Given the description of an element on the screen output the (x, y) to click on. 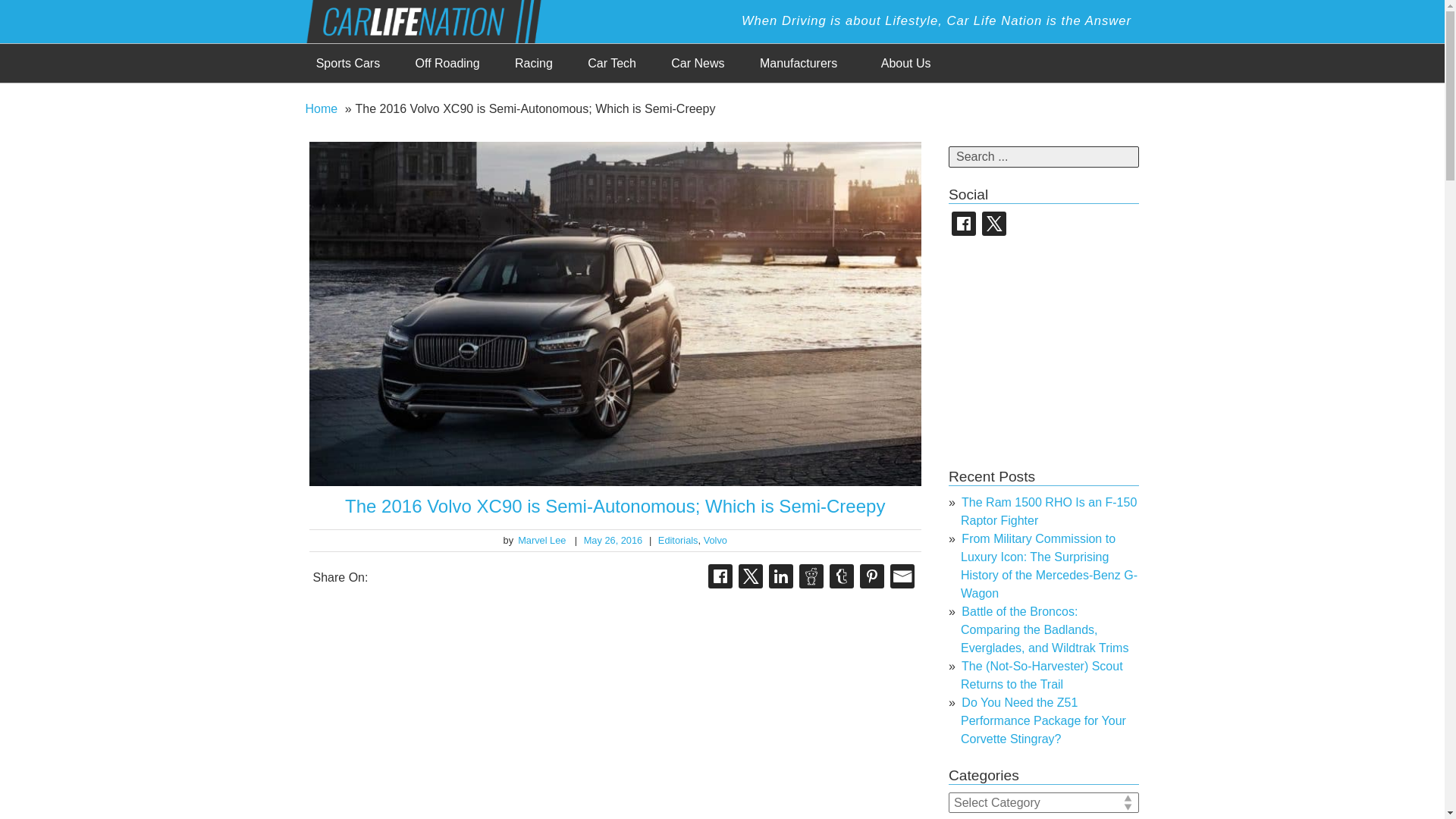
Advertisement (1062, 351)
Car Tech (611, 63)
Share On Reddit (811, 576)
Car Life Nation Facebook (963, 223)
Car Life Nation Twitter (993, 223)
Racing (533, 63)
Off Roading (446, 63)
Sports Cars (347, 63)
Car News (697, 63)
Share To Email (901, 576)
Share On Twitter (750, 576)
Share On Facebook (719, 576)
Car Life Nation (435, 20)
Share On LinkedIn (780, 576)
Manufacturers (798, 63)
